Given the description of an element on the screen output the (x, y) to click on. 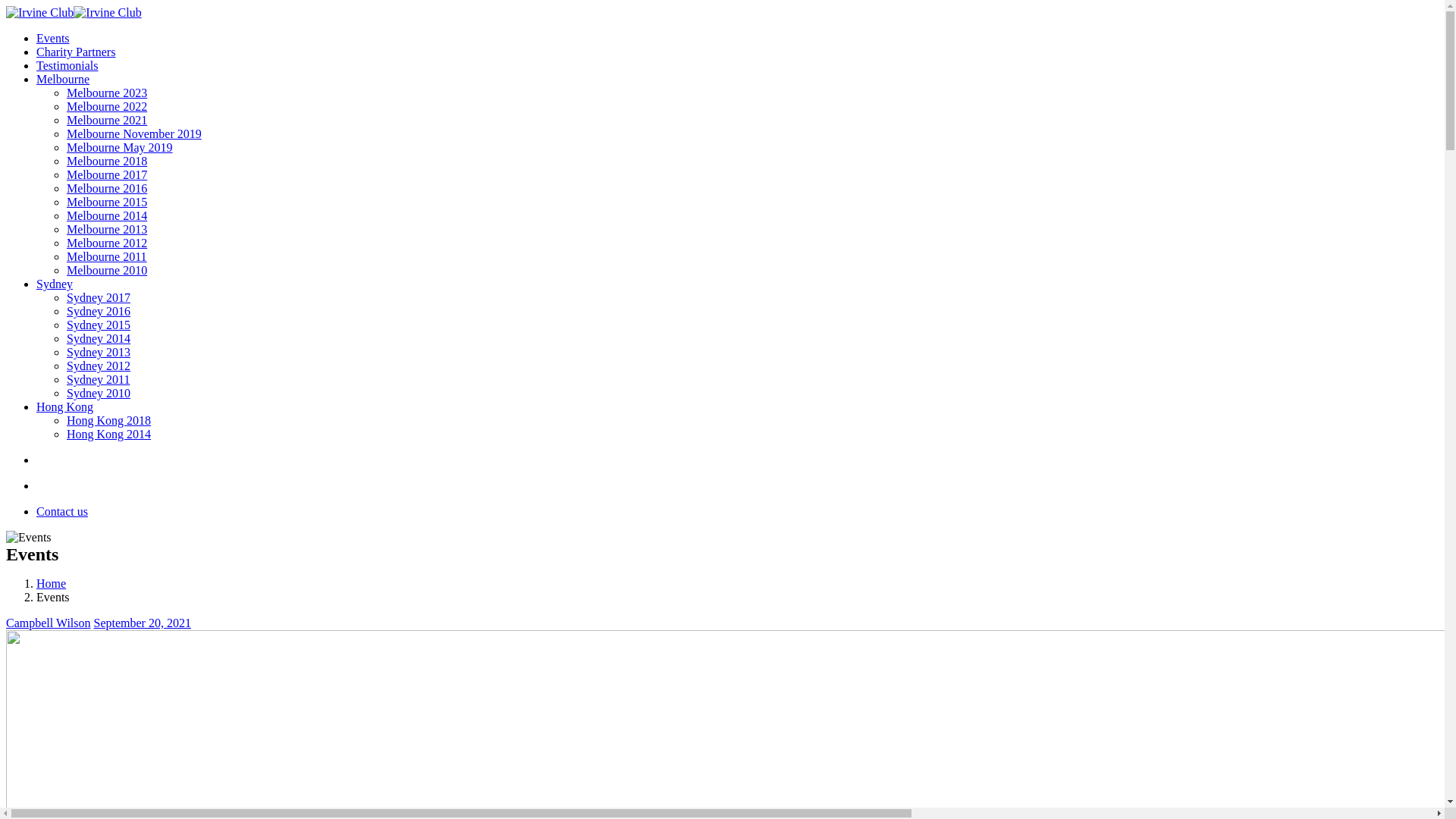
Hong Kong 2018 Element type: text (108, 420)
Testimonials Element type: text (67, 65)
Melbourne 2010 Element type: text (106, 269)
Melbourne 2016 Element type: text (106, 188)
Melbourne 2018 Element type: text (106, 160)
Sydney Element type: text (54, 283)
September 20, 2021 Element type: text (142, 622)
Sydney 2016 Element type: text (98, 310)
Sydney 2014 Element type: text (98, 338)
Sydney 2015 Element type: text (98, 324)
Sydney 2011 Element type: text (97, 379)
Campbell Wilson Element type: text (48, 622)
Melbourne 2022 Element type: text (106, 106)
Melbourne 2013 Element type: text (106, 228)
Sydney 2012 Element type: text (98, 365)
Melbourne May 2019 Element type: text (119, 147)
Sydney 2017 Element type: text (98, 297)
Melbourne Element type: text (62, 78)
Sydney 2013 Element type: text (98, 351)
Melbourne 2017 Element type: text (106, 174)
Melbourne 2021 Element type: text (106, 119)
Melbourne November 2019 Element type: text (133, 133)
Melbourne 2012 Element type: text (106, 242)
Events Element type: text (52, 37)
Contact us Element type: text (61, 511)
Charity Partners Element type: text (75, 51)
Sydney 2010 Element type: text (98, 392)
Melbourne 2015 Element type: text (106, 201)
Hong Kong Element type: text (64, 406)
Melbourne 2023 Element type: text (106, 92)
Melbourne 2014 Element type: text (106, 215)
Home Element type: text (50, 583)
Melbourne 2011 Element type: text (106, 256)
Hong Kong 2014 Element type: text (108, 433)
